Given the description of an element on the screen output the (x, y) to click on. 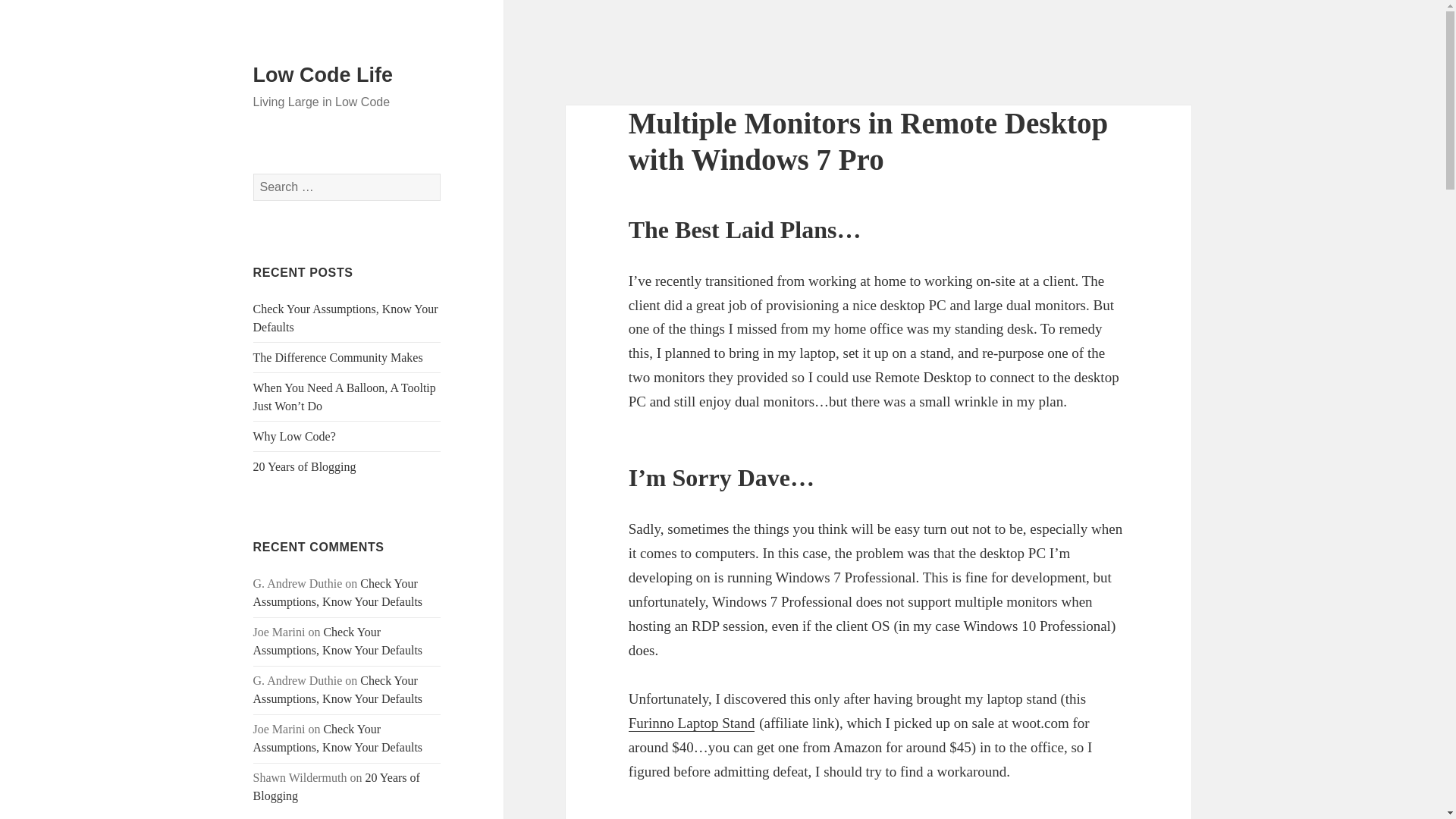
The Difference Community Makes (338, 357)
Check Your Assumptions, Know Your Defaults (338, 640)
Check Your Assumptions, Know Your Defaults (345, 317)
20 Years of Blogging (304, 466)
Why Low Code? (294, 436)
20 Years of Blogging (336, 786)
Low Code Life (323, 74)
Check Your Assumptions, Know Your Defaults (338, 689)
Check Your Assumptions, Know Your Defaults (338, 592)
Check Your Assumptions, Know Your Defaults (338, 737)
